Given the description of an element on the screen output the (x, y) to click on. 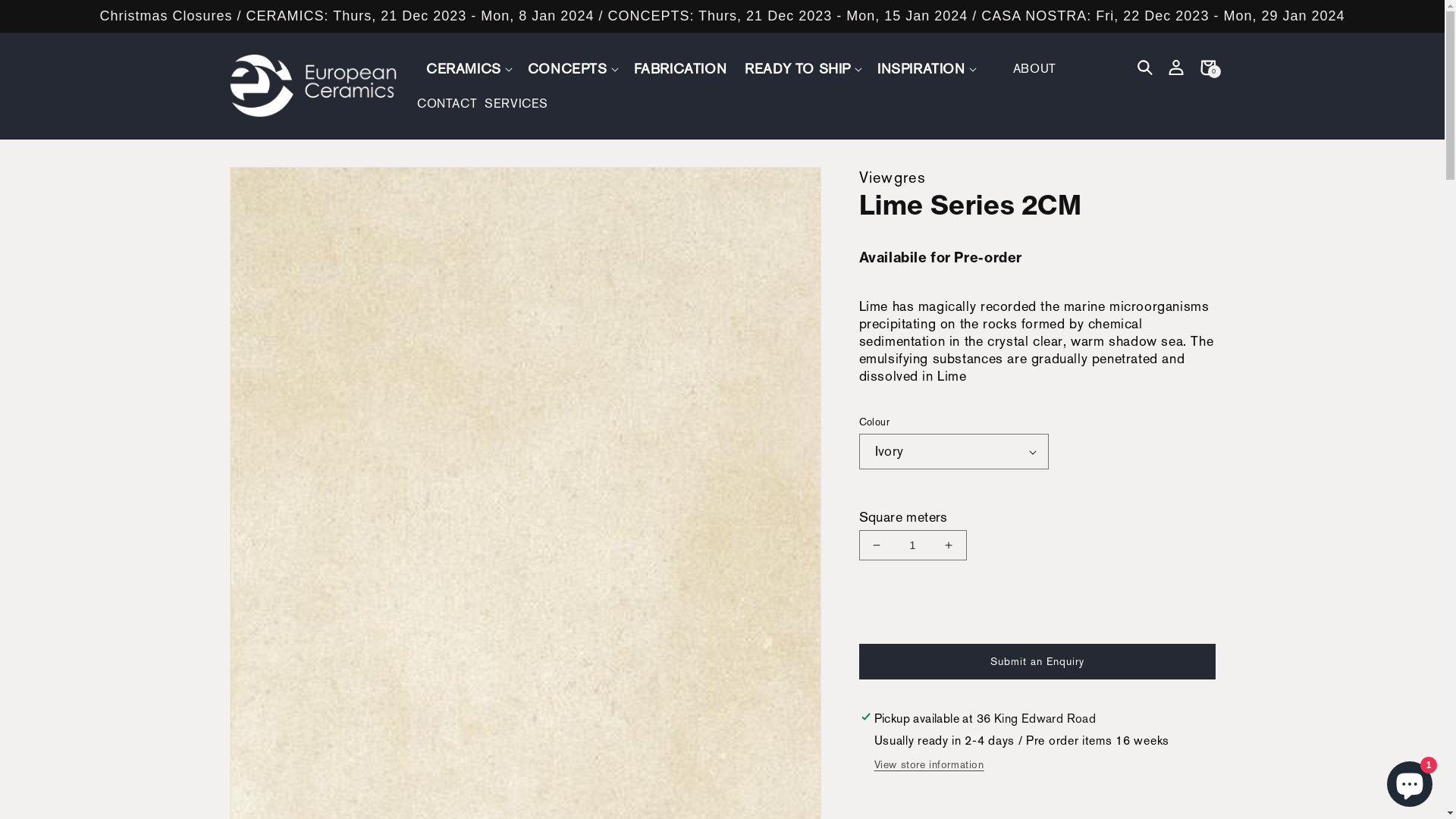
View store information Element type: text (928, 764)
FABRICATION Element type: text (680, 68)
Log in Element type: text (1175, 67)
Shopify online store chat Element type: hover (1409, 780)
SERVICES Element type: text (519, 103)
Cart
0
0 items Element type: text (1206, 67)
CONTACT Element type: text (450, 103)
Decrease quantity for Lime Series 2CM Element type: text (876, 545)
Skip to product information Element type: text (275, 183)
Increase quantity for Lime Series 2CM Element type: text (948, 545)
ABOUT Element type: text (1038, 68)
Submit an Enquiry Element type: text (1036, 661)
